Given the description of an element on the screen output the (x, y) to click on. 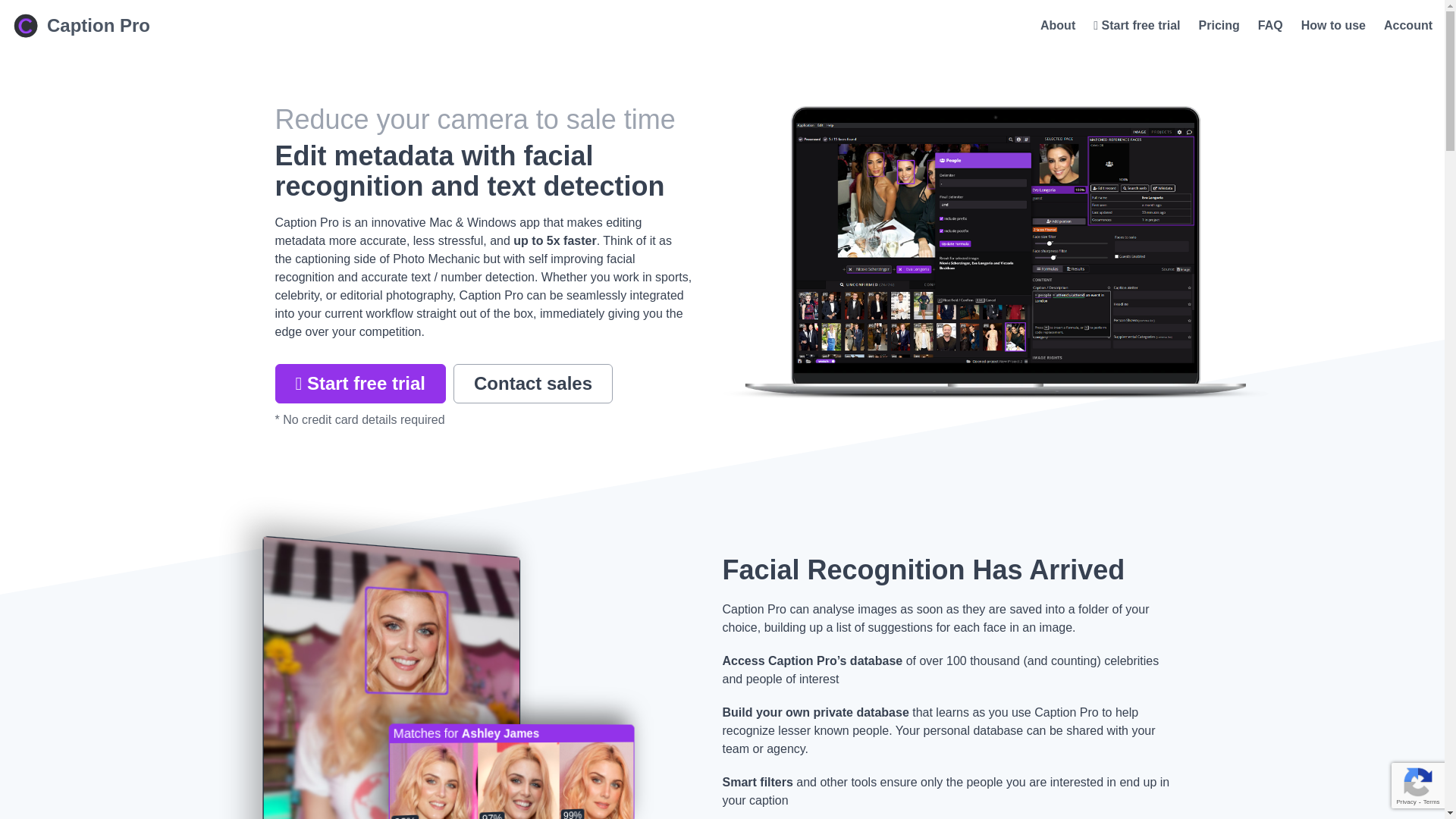
Contact sales (532, 383)
Account (1408, 25)
Start free trial (360, 383)
FAQ (1269, 25)
Start free trial (1136, 25)
Pricing (1219, 25)
About (1058, 25)
How to use (1333, 25)
Caption Pro (80, 25)
